Given the description of an element on the screen output the (x, y) to click on. 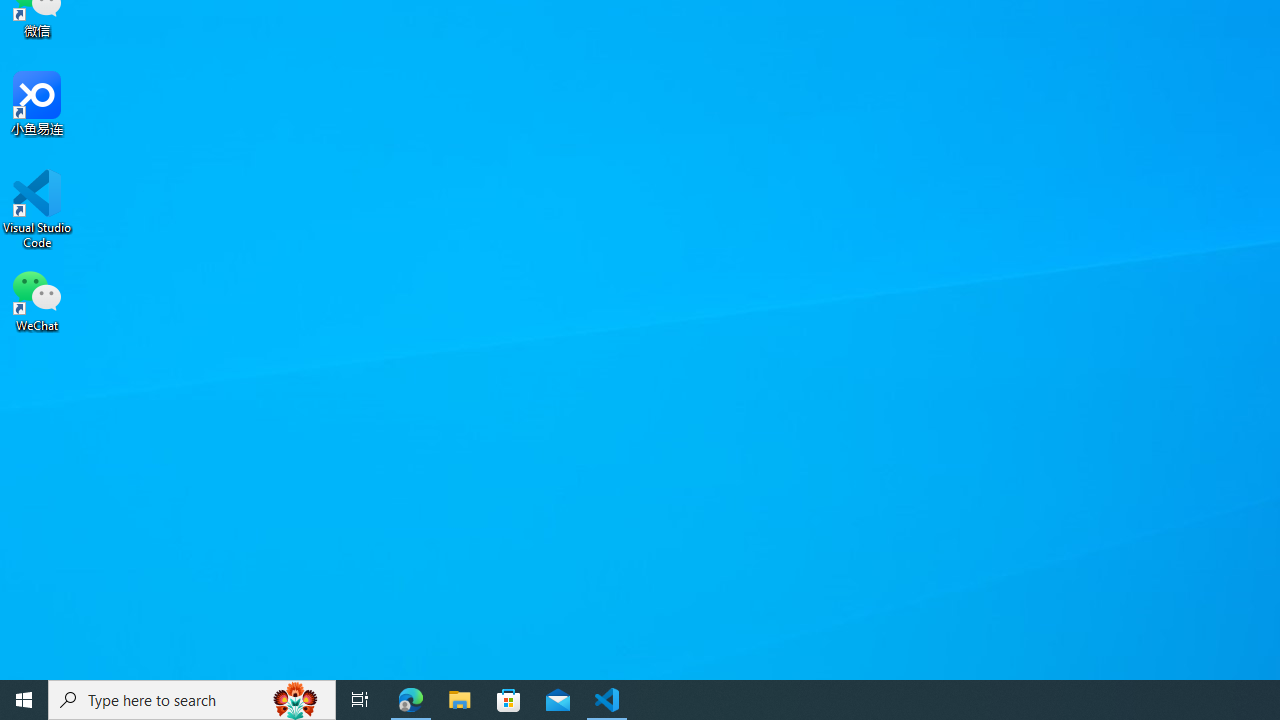
WeChat (37, 299)
Visual Studio Code (37, 209)
